Given the description of an element on the screen output the (x, y) to click on. 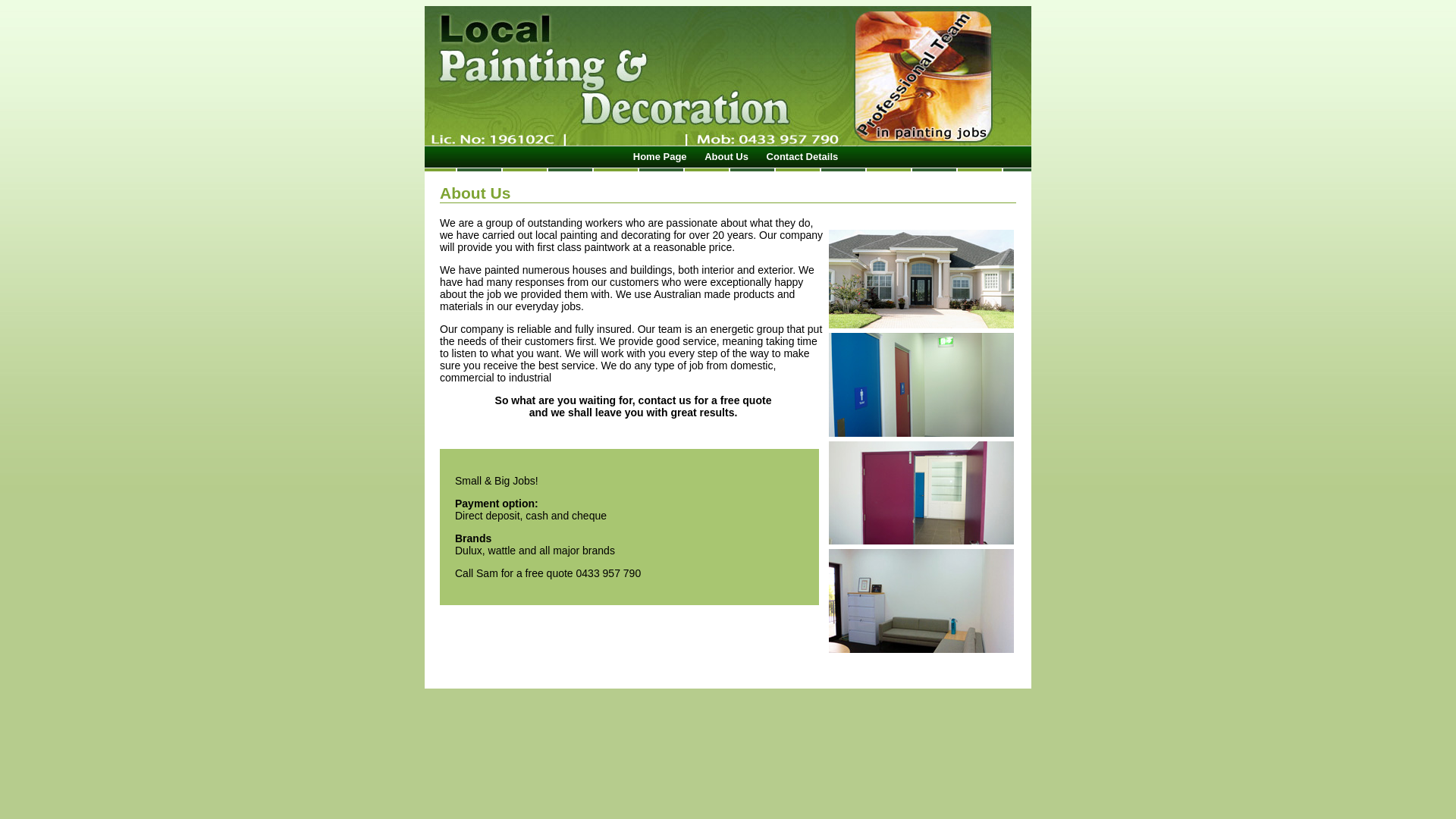
Contact Details Element type: text (802, 156)
Home Page Element type: text (660, 156)
About Us Element type: text (726, 156)
